Given the description of an element on the screen output the (x, y) to click on. 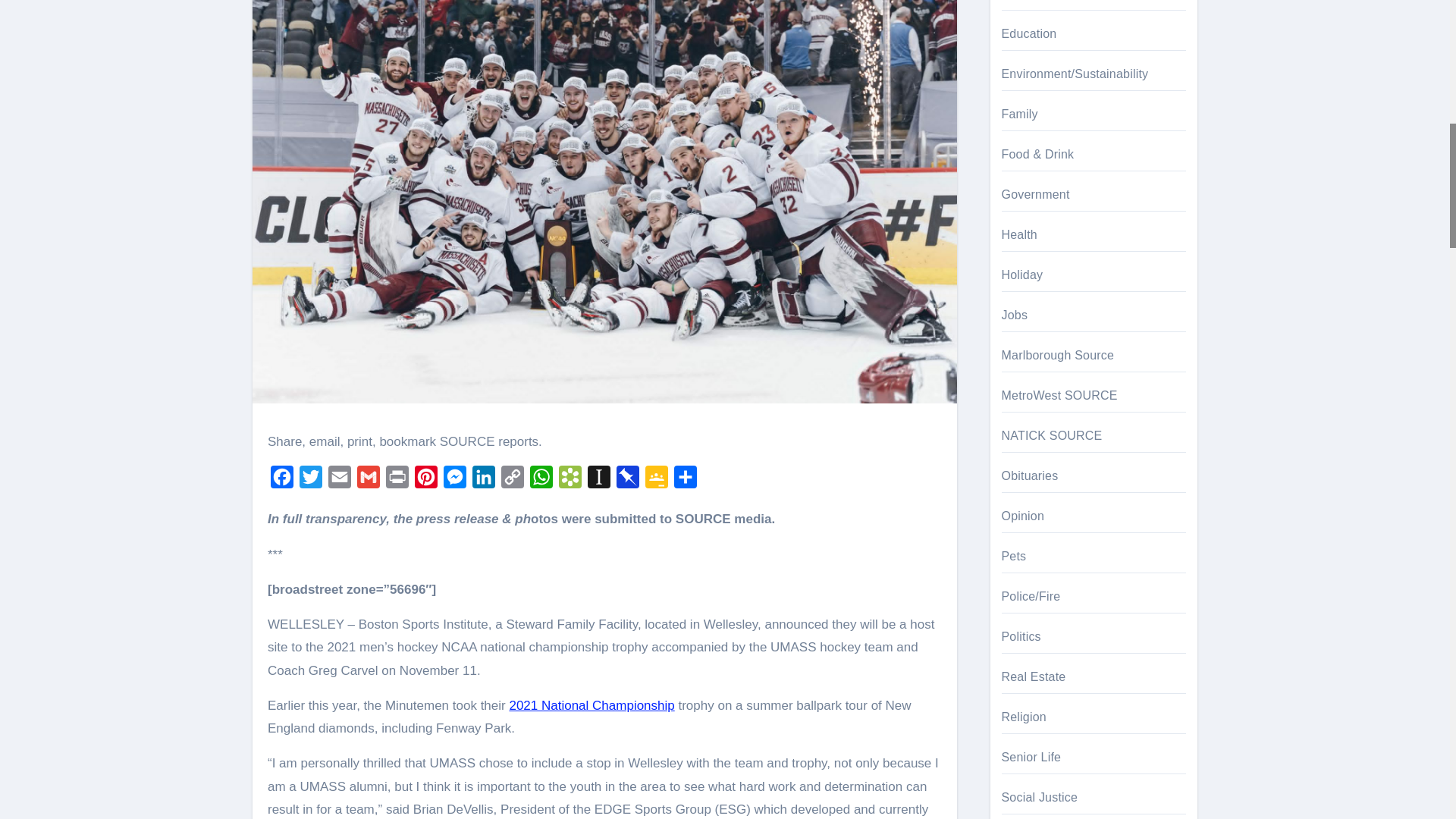
Facebook (282, 481)
Gmail (367, 481)
Email (338, 481)
Twitter (310, 481)
